Given the description of an element on the screen output the (x, y) to click on. 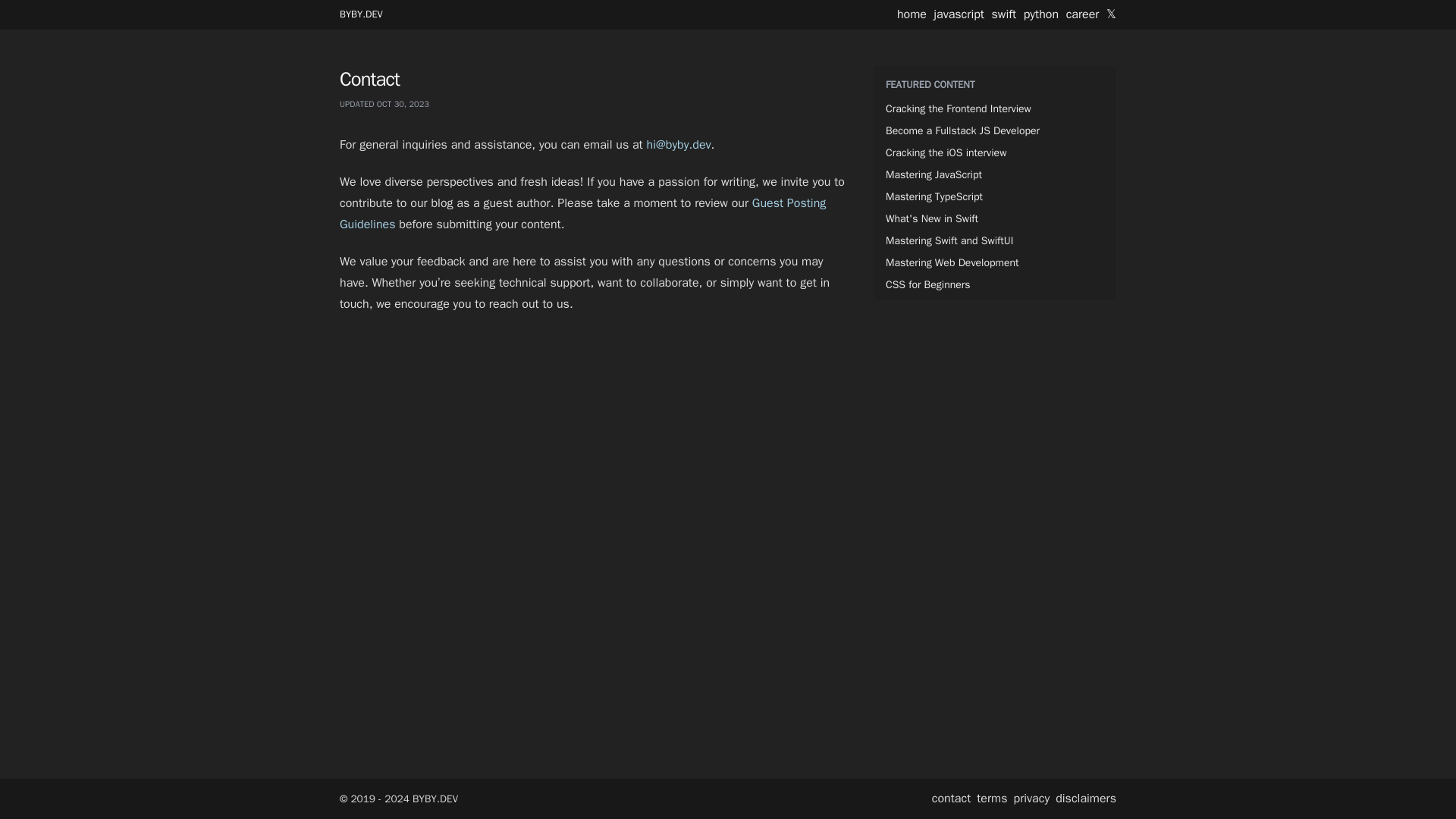
swift (1003, 14)
Cracking the Frontend Interview (957, 108)
Mastering TypeScript (933, 196)
BYBY.DEV (360, 14)
home (911, 14)
Guest Posting Guidelines (582, 213)
javascript (958, 14)
What's New in Swift (931, 218)
Mastering Web Development (952, 262)
contact (951, 798)
disclaimers (1085, 798)
Mastering Swift and SwiftUI (949, 240)
python (1040, 14)
CSS for Beginners (928, 284)
Become a Fullstack JS Developer (962, 130)
